Given the description of an element on the screen output the (x, y) to click on. 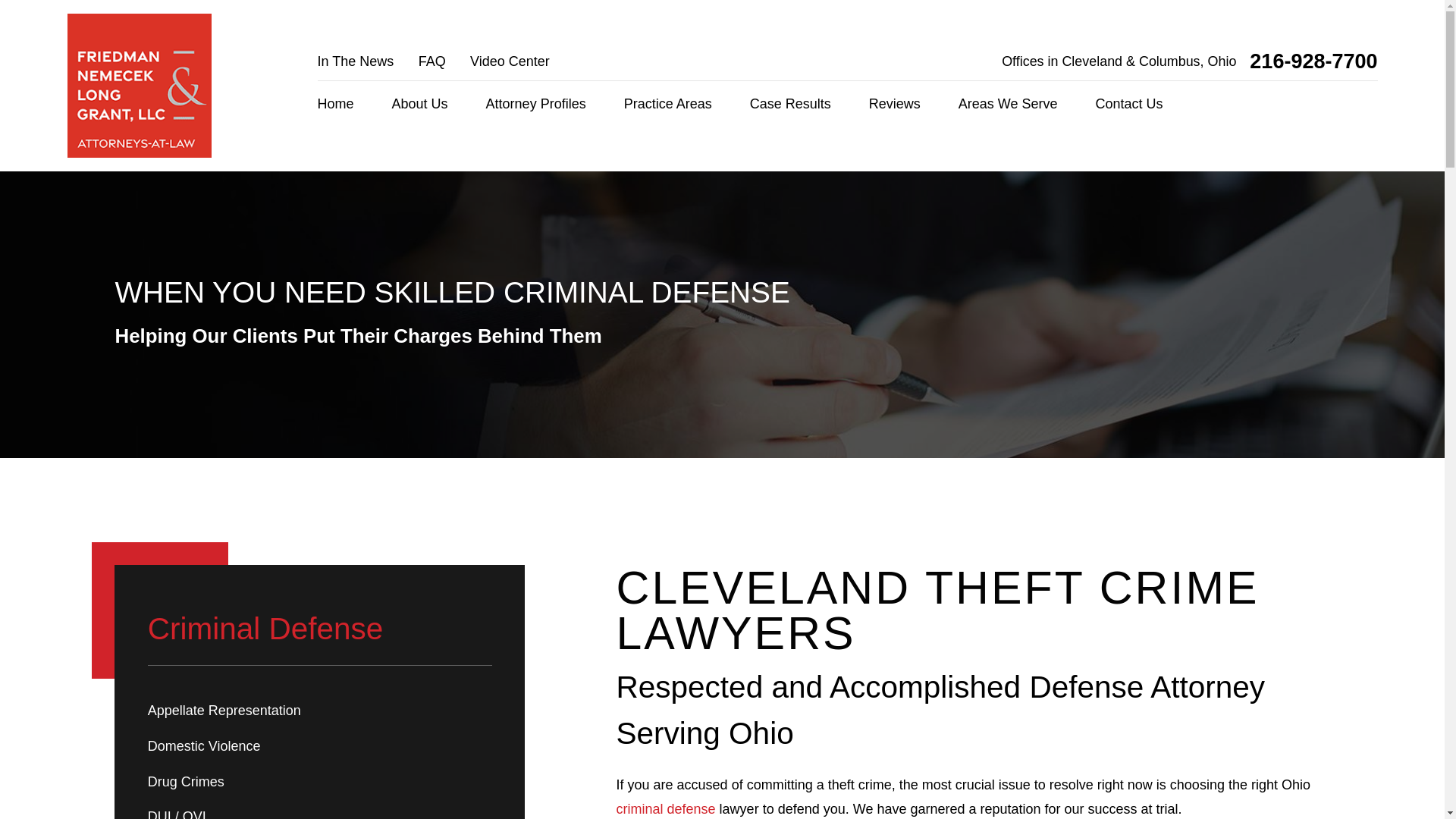
Reviews (894, 104)
Attorney Profiles (536, 104)
Contact Us (1129, 104)
Practice Areas (667, 104)
Home (335, 104)
FAQ (432, 61)
In The News (355, 61)
Areas We Serve (1008, 104)
216-928-7700 (1313, 61)
About Us (419, 104)
